Given the description of an element on the screen output the (x, y) to click on. 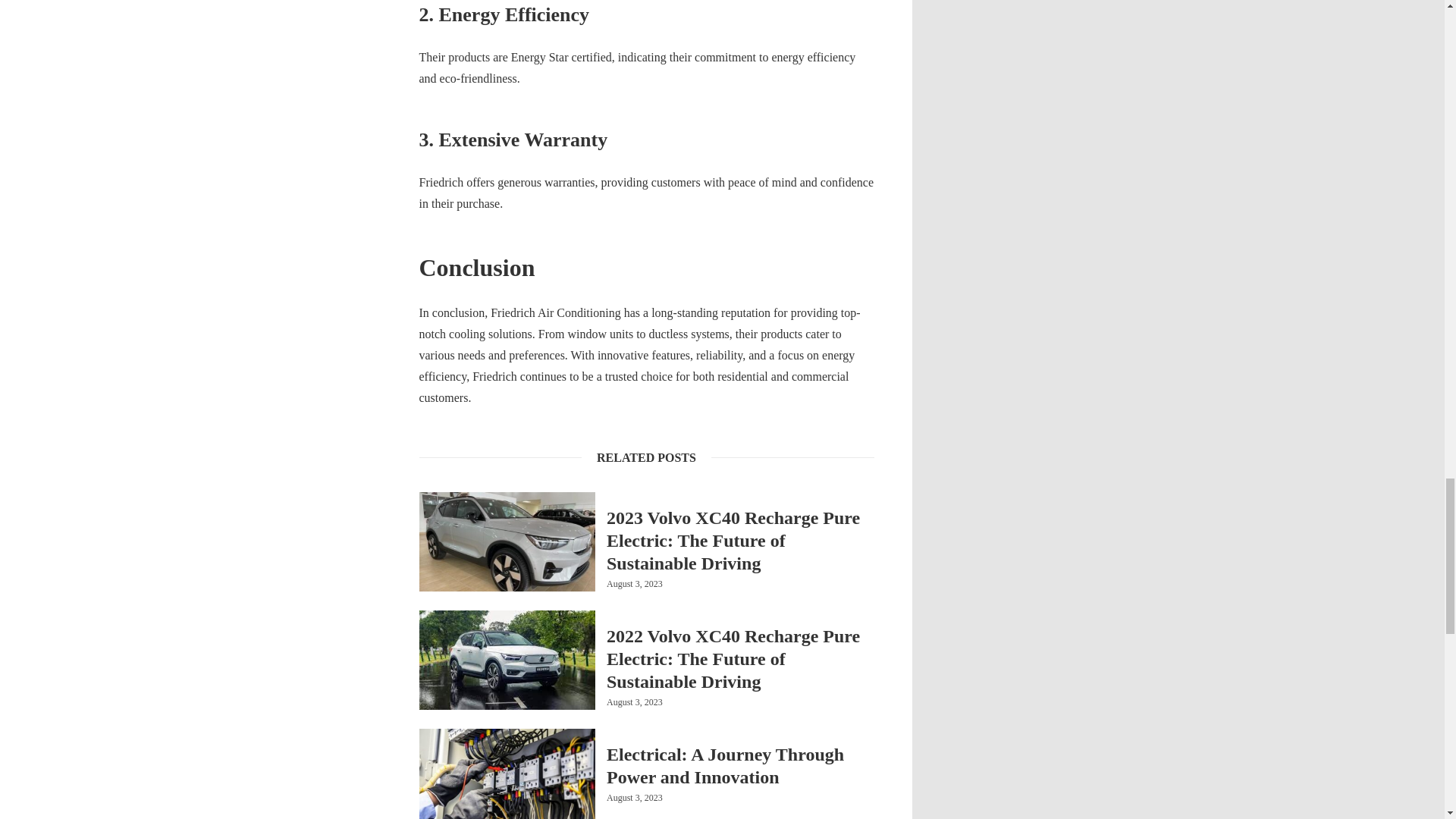
UNCATEGORIZED (642, 614)
Electrical: A Journey Through Power and Innovation (740, 765)
UNCATEGORIZED (642, 496)
UNCATEGORIZED (642, 733)
